Given the description of an element on the screen output the (x, y) to click on. 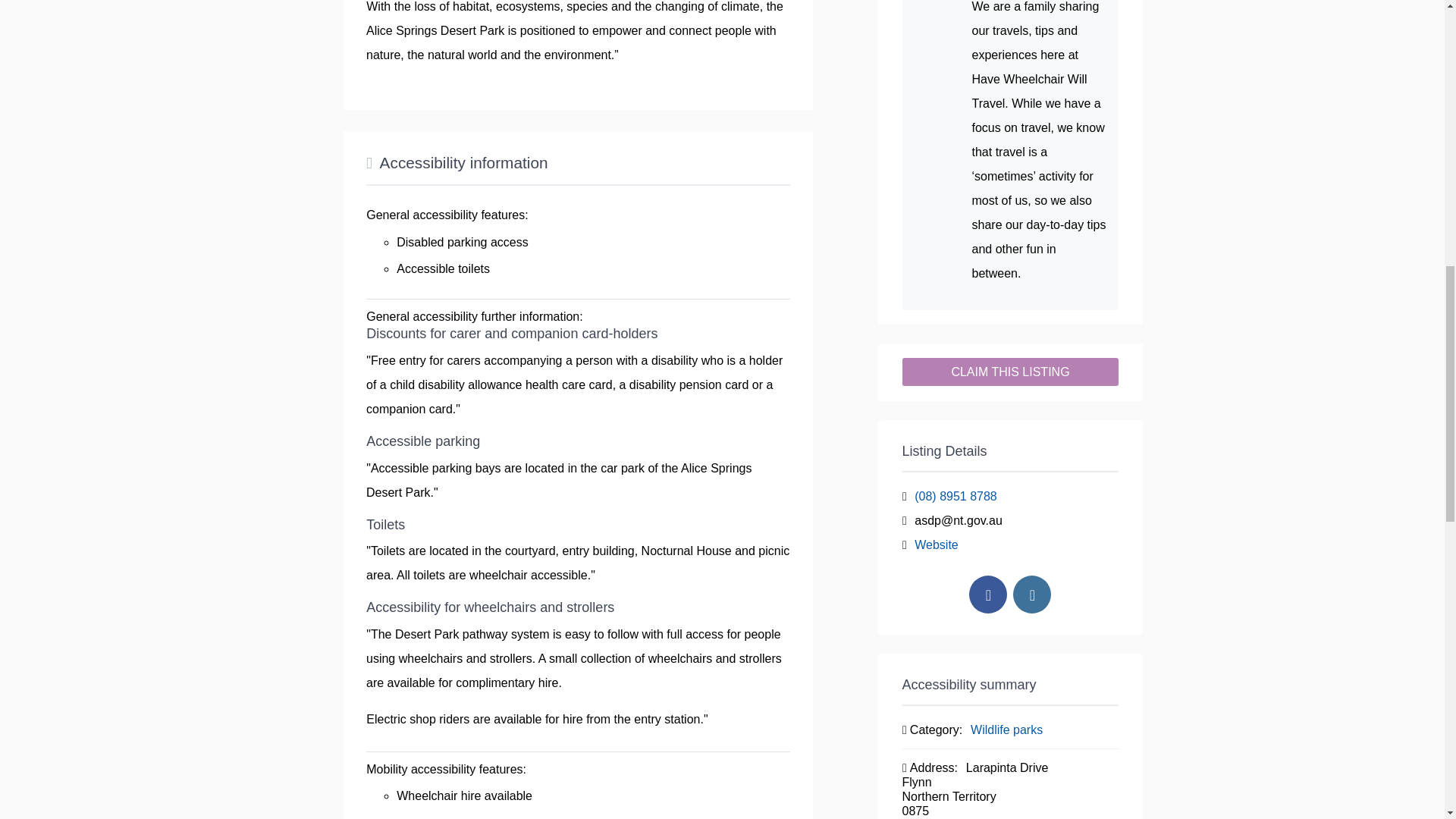
Facebook (988, 594)
Instagram (1032, 594)
